Given the description of an element on the screen output the (x, y) to click on. 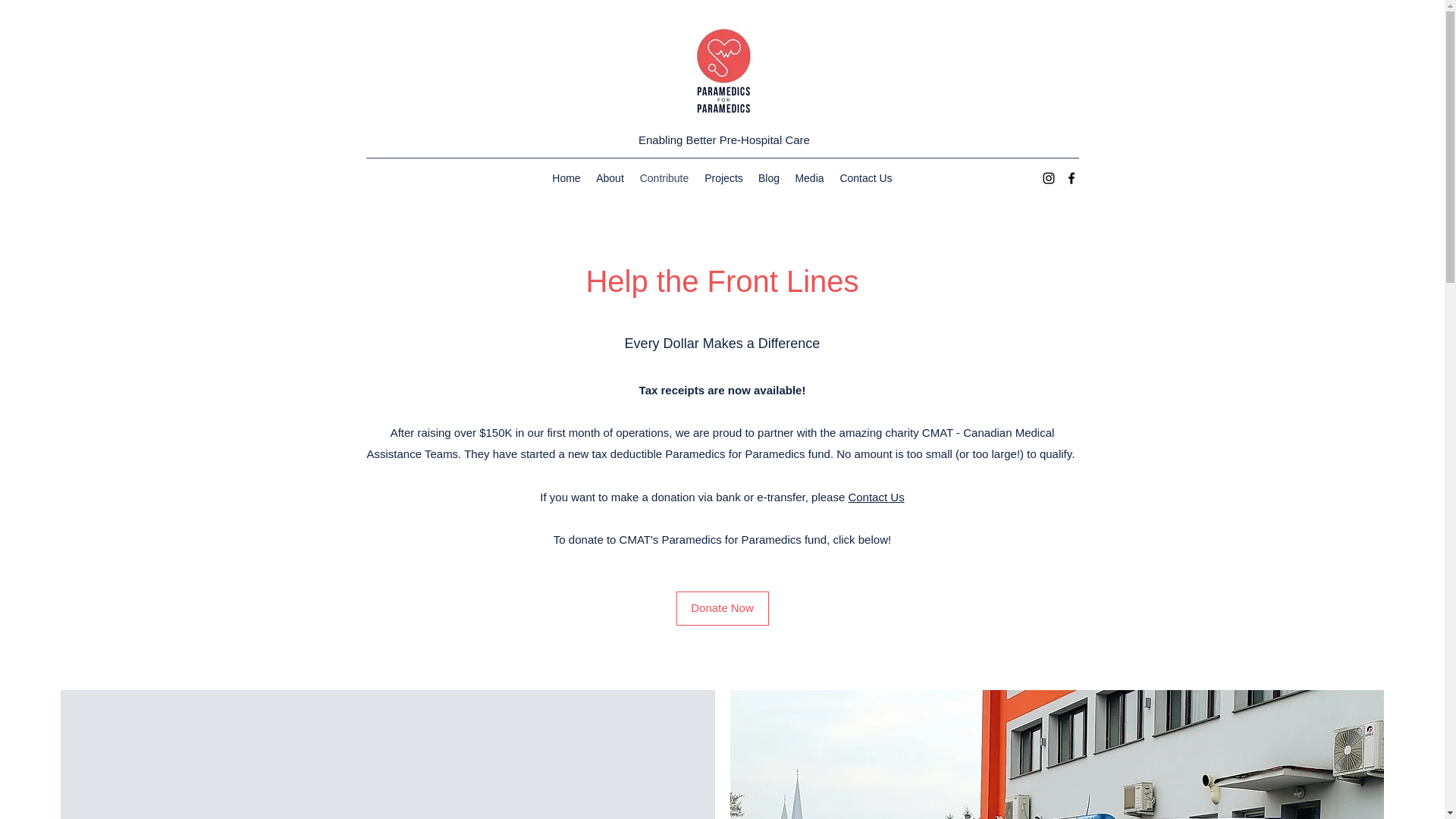
Contact Us (865, 178)
Contact Us (875, 496)
Donate Now (722, 608)
Projects (724, 178)
Contribute (664, 178)
About (609, 178)
Media (809, 178)
Home (566, 178)
Blog (769, 178)
